Given the description of an element on the screen output the (x, y) to click on. 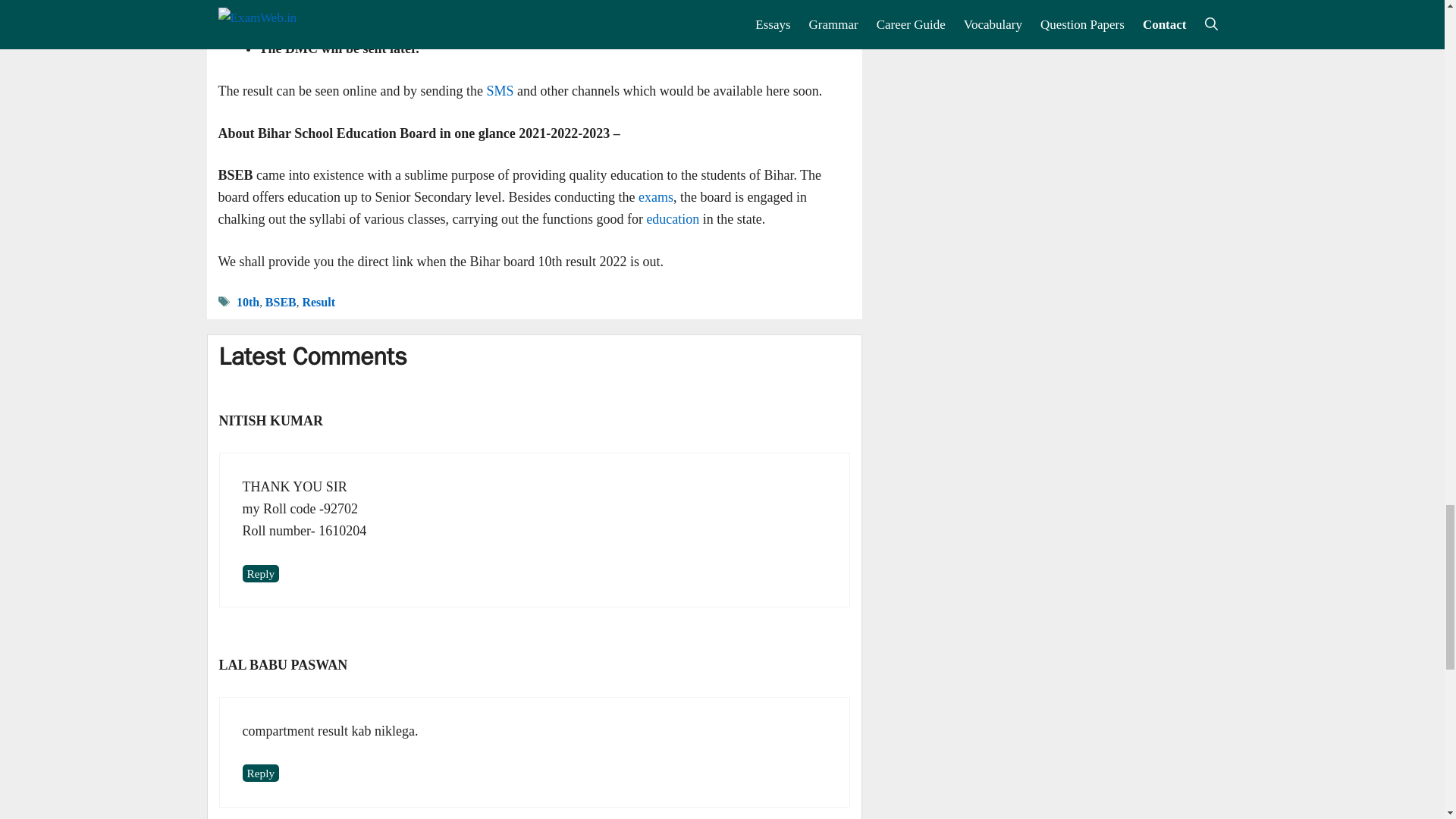
Reply (261, 773)
Reply (261, 573)
education (670, 218)
BSEB (280, 301)
SMS (499, 90)
exams (653, 196)
Result (317, 301)
10th (247, 301)
